Given the description of an element on the screen output the (x, y) to click on. 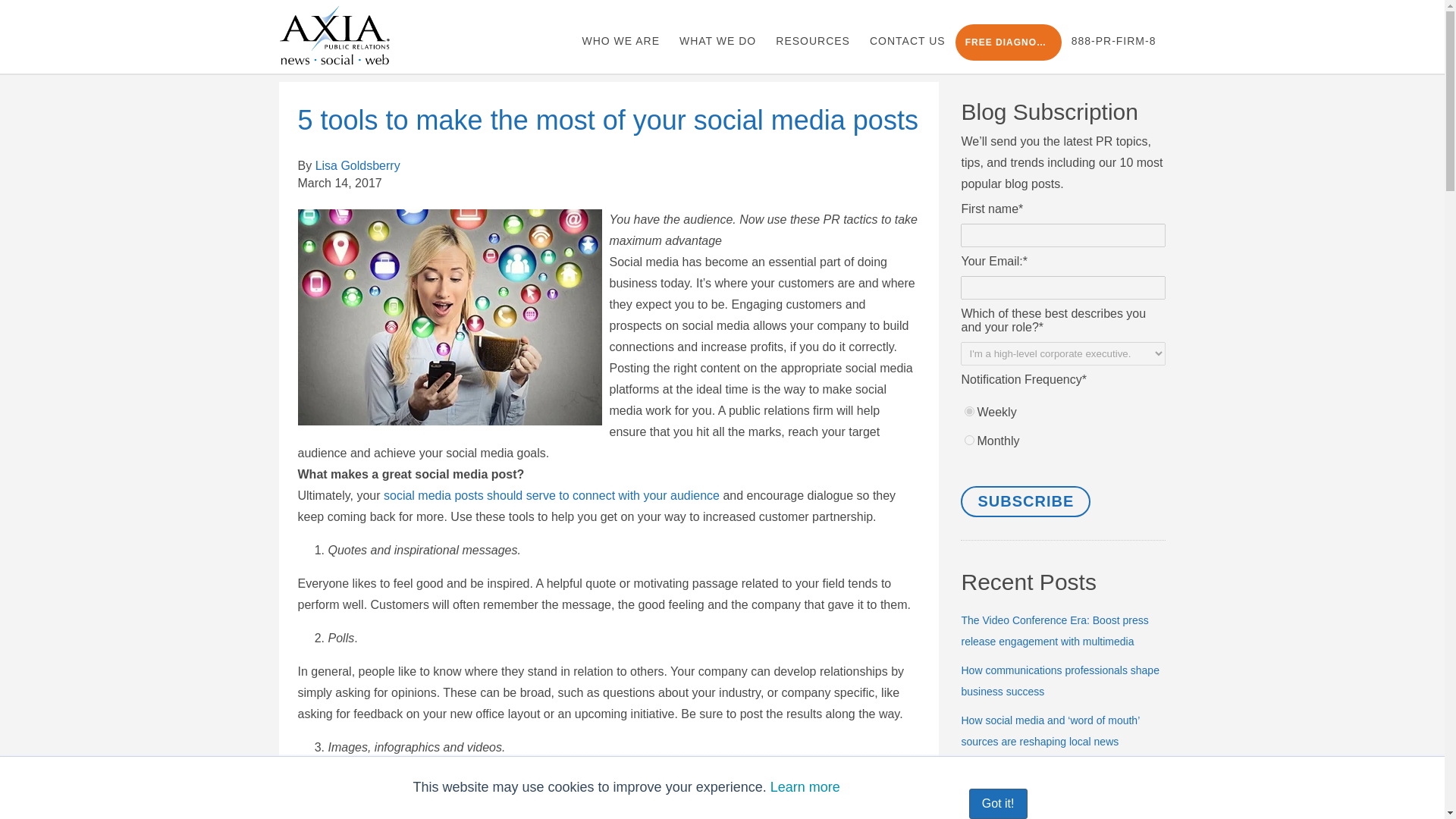
Got it! (998, 803)
weekly (968, 411)
RESOURCES (812, 40)
WHO WE ARE (620, 40)
Learn more (805, 786)
WHAT WE DO (717, 40)
monthly (968, 439)
CONTACT US (907, 40)
Subscribe (1025, 501)
